Given the description of an element on the screen output the (x, y) to click on. 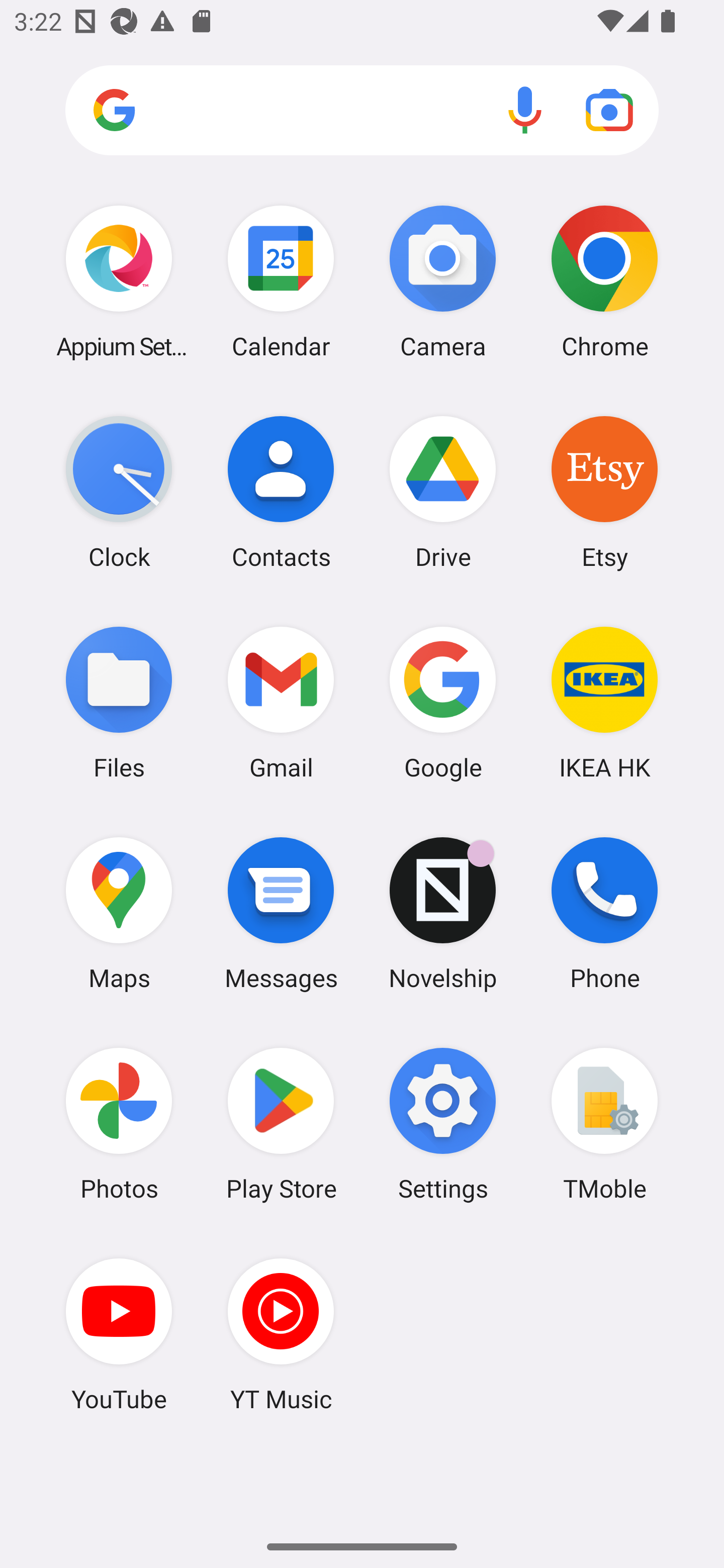
Search apps, web and more (361, 110)
Voice search (524, 109)
Google Lens (608, 109)
Appium Settings (118, 281)
Calendar (280, 281)
Camera (443, 281)
Chrome (604, 281)
Clock (118, 492)
Contacts (280, 492)
Drive (443, 492)
Etsy (604, 492)
Files (118, 702)
Gmail (280, 702)
Google (443, 702)
IKEA HK (604, 702)
Maps (118, 913)
Messages (280, 913)
Novelship Novelship has 5 notifications (443, 913)
Phone (604, 913)
Photos (118, 1124)
Play Store (280, 1124)
Settings (443, 1124)
TMoble (604, 1124)
YouTube (118, 1334)
YT Music (280, 1334)
